Given the description of an element on the screen output the (x, y) to click on. 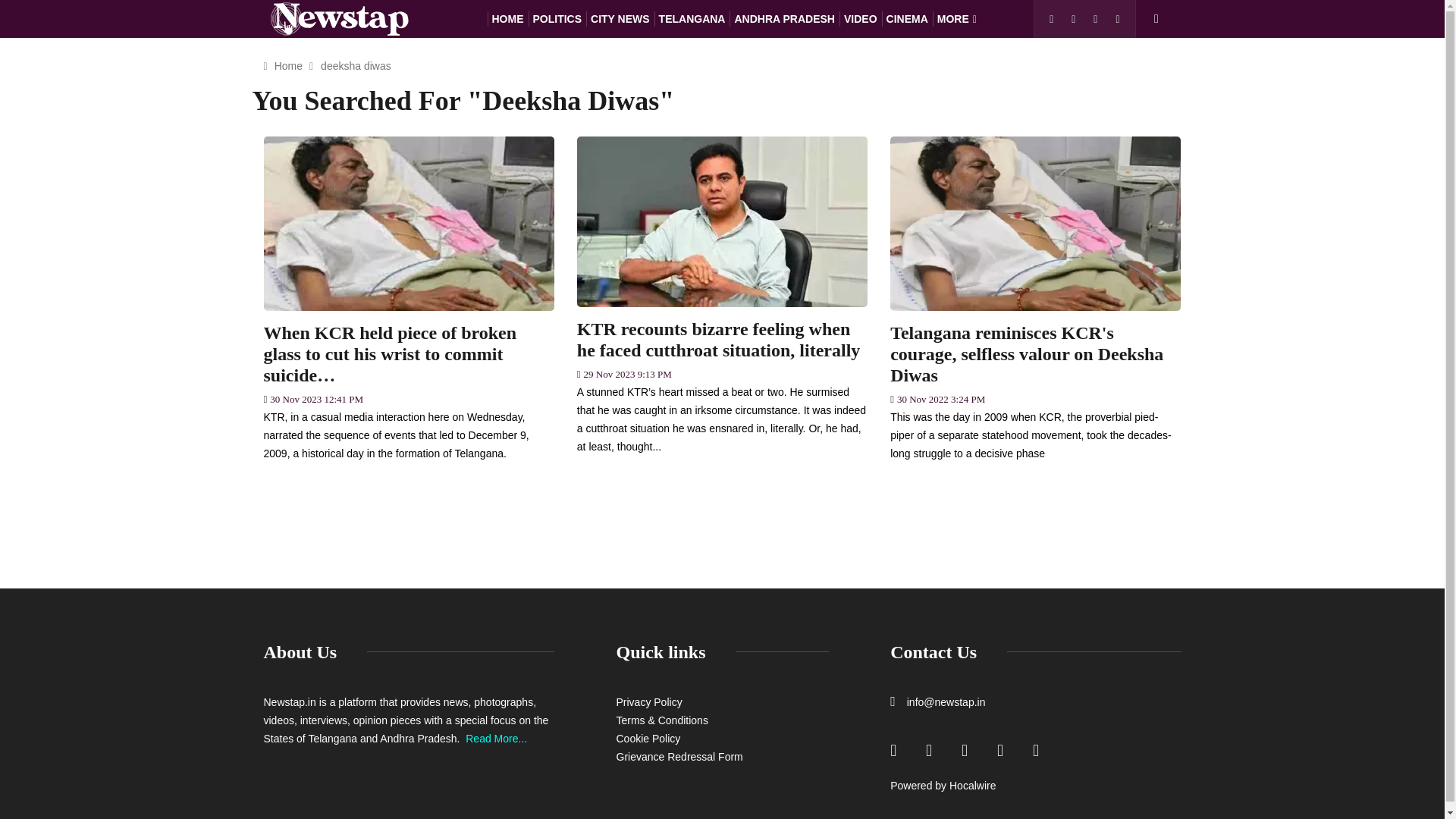
TELANGANA (691, 18)
MORE (957, 18)
ANDHRA PRADESH (784, 18)
Home (287, 65)
HOME (506, 18)
CINEMA (907, 18)
POLITICS (556, 18)
